Given the description of an element on the screen output the (x, y) to click on. 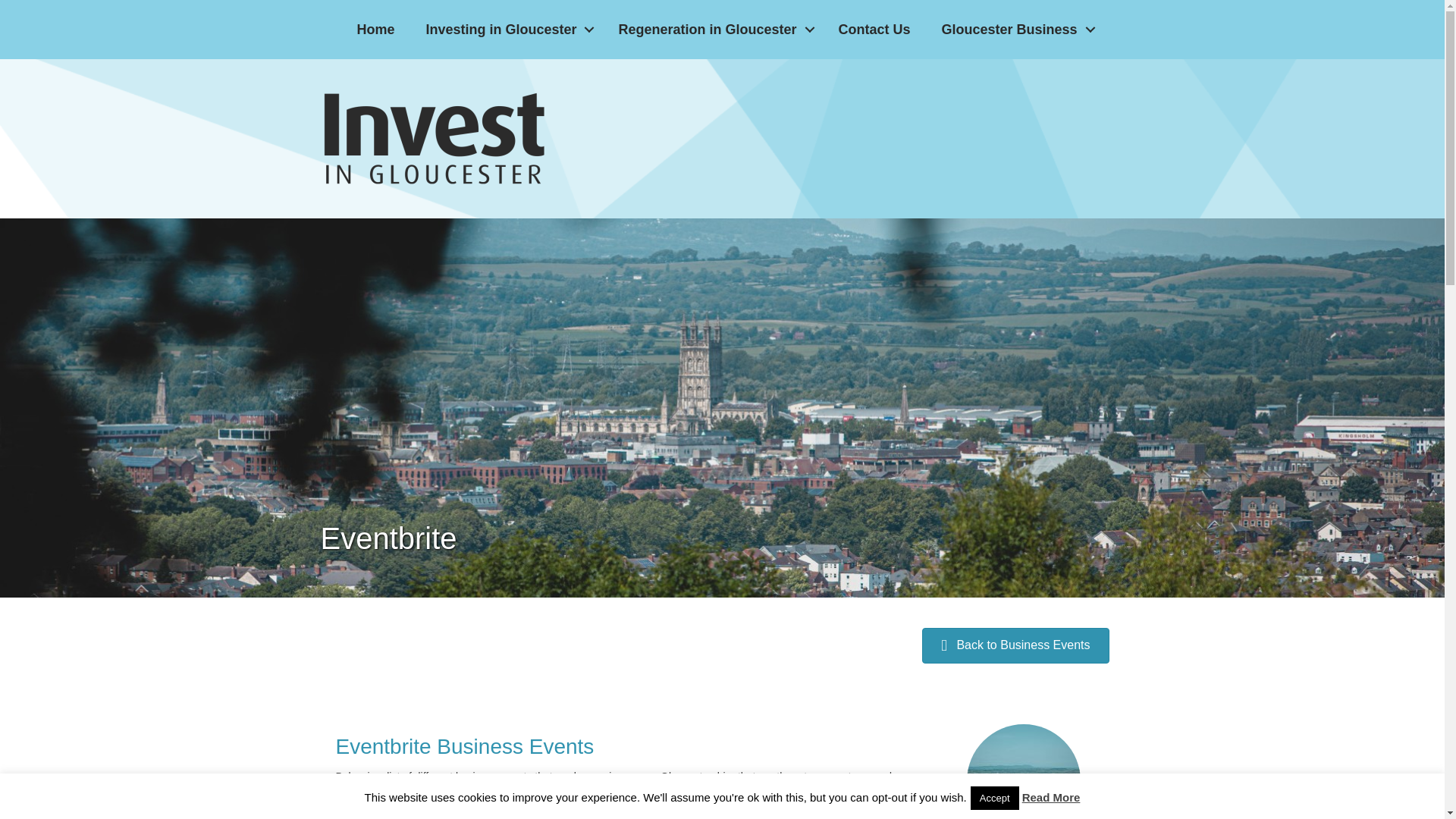
Regeneration in Gloucester (712, 29)
Accept (995, 797)
Robinswood 11 (1023, 771)
Contact Us (875, 29)
Back to Business Events (1014, 645)
Home (374, 29)
Investing in Gloucester (506, 29)
Gloucester Business (1014, 29)
Read More (1051, 797)
